Given the description of an element on the screen output the (x, y) to click on. 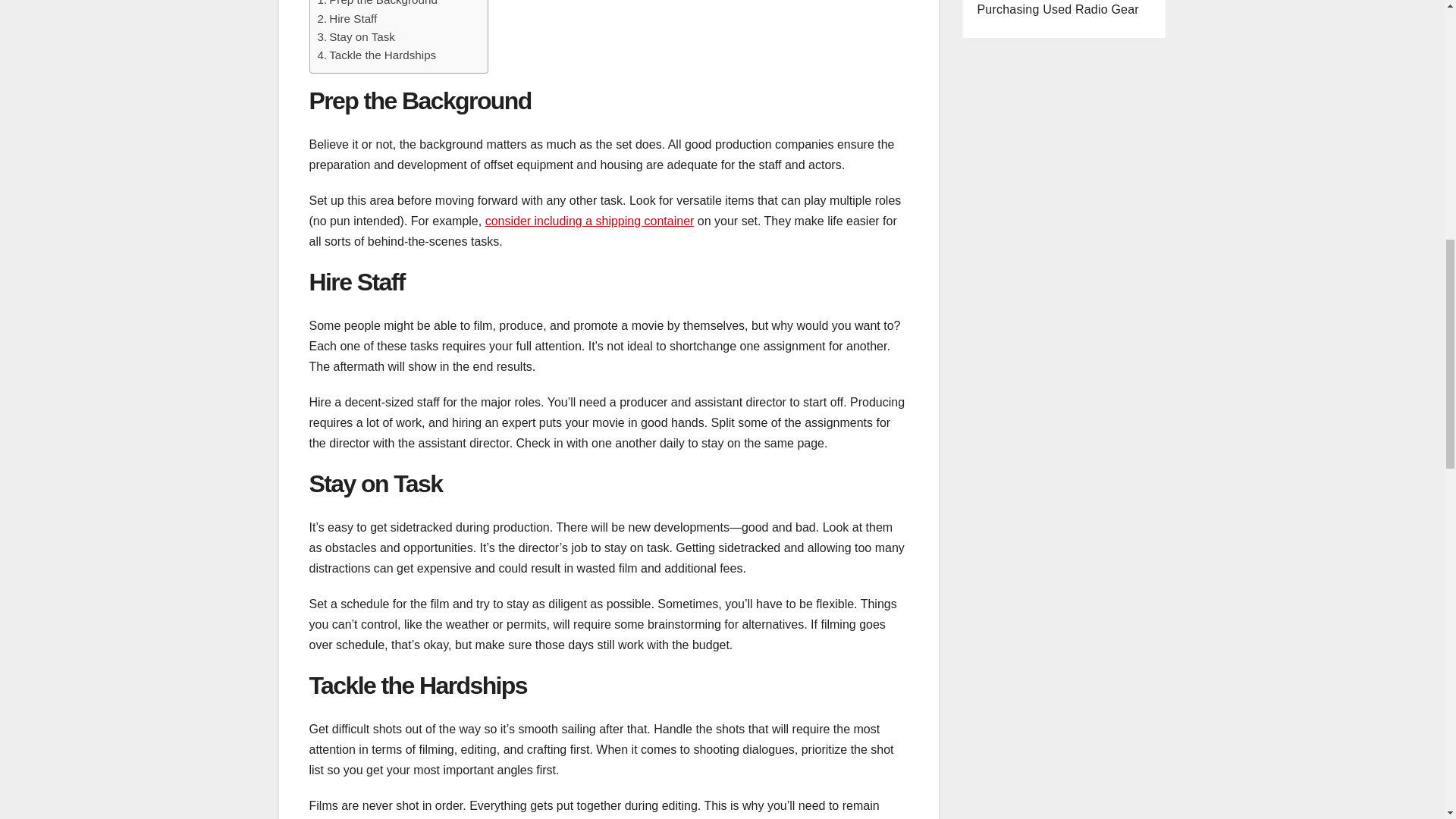
Prep the Background (376, 4)
Hire Staff (347, 18)
consider including a shipping container (589, 220)
Stay on Task (355, 36)
Tackle the Hardships (376, 54)
Stay on Task (355, 36)
Prep the Background (376, 4)
Hire Staff (347, 18)
Tackle the Hardships (376, 54)
